Given the description of an element on the screen output the (x, y) to click on. 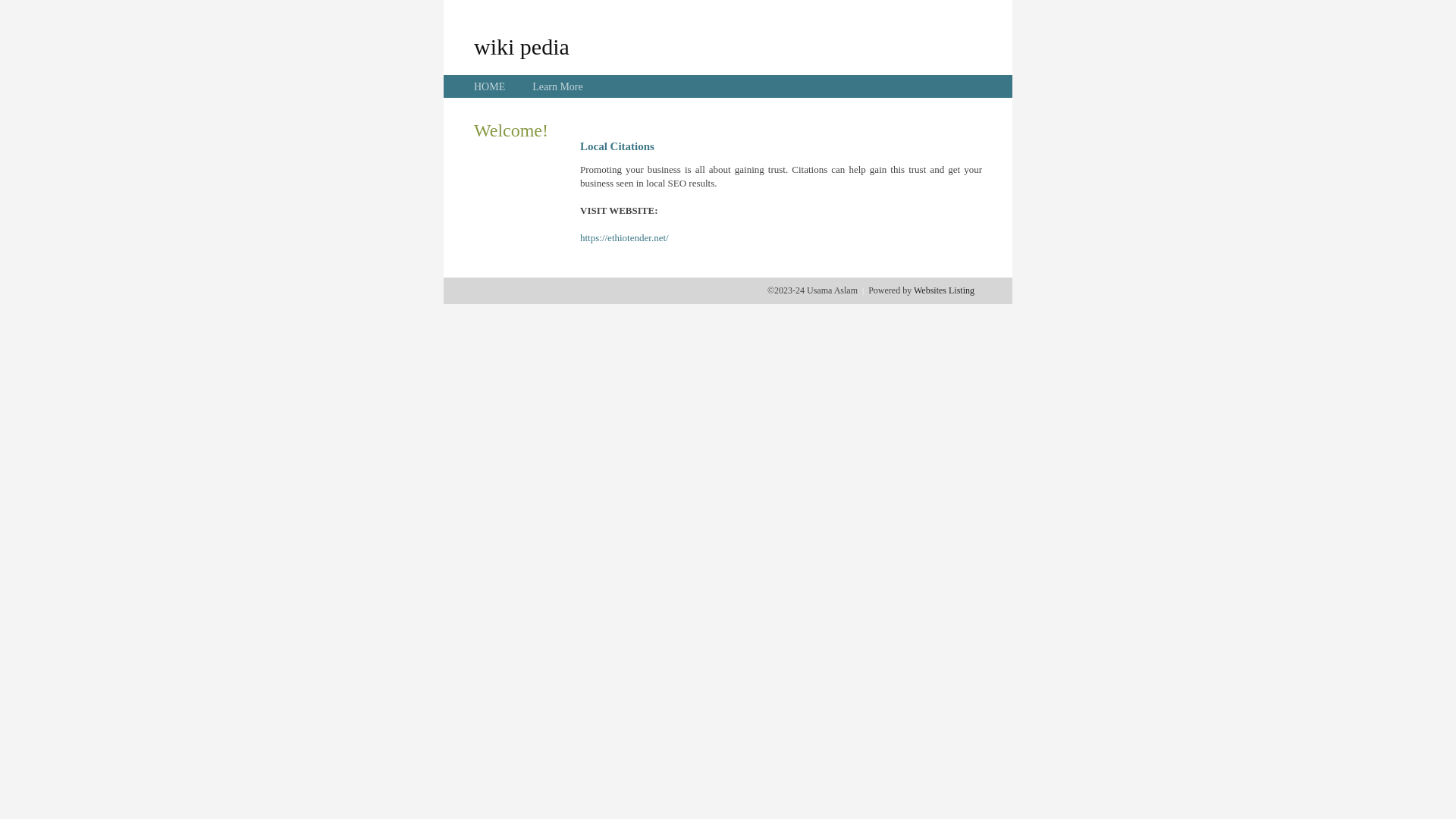
HOME Element type: text (489, 86)
Websites Listing Element type: text (943, 290)
https://ethiotender.net/ Element type: text (624, 237)
Learn More Element type: text (557, 86)
wiki pedia Element type: text (521, 46)
